Given the description of an element on the screen output the (x, y) to click on. 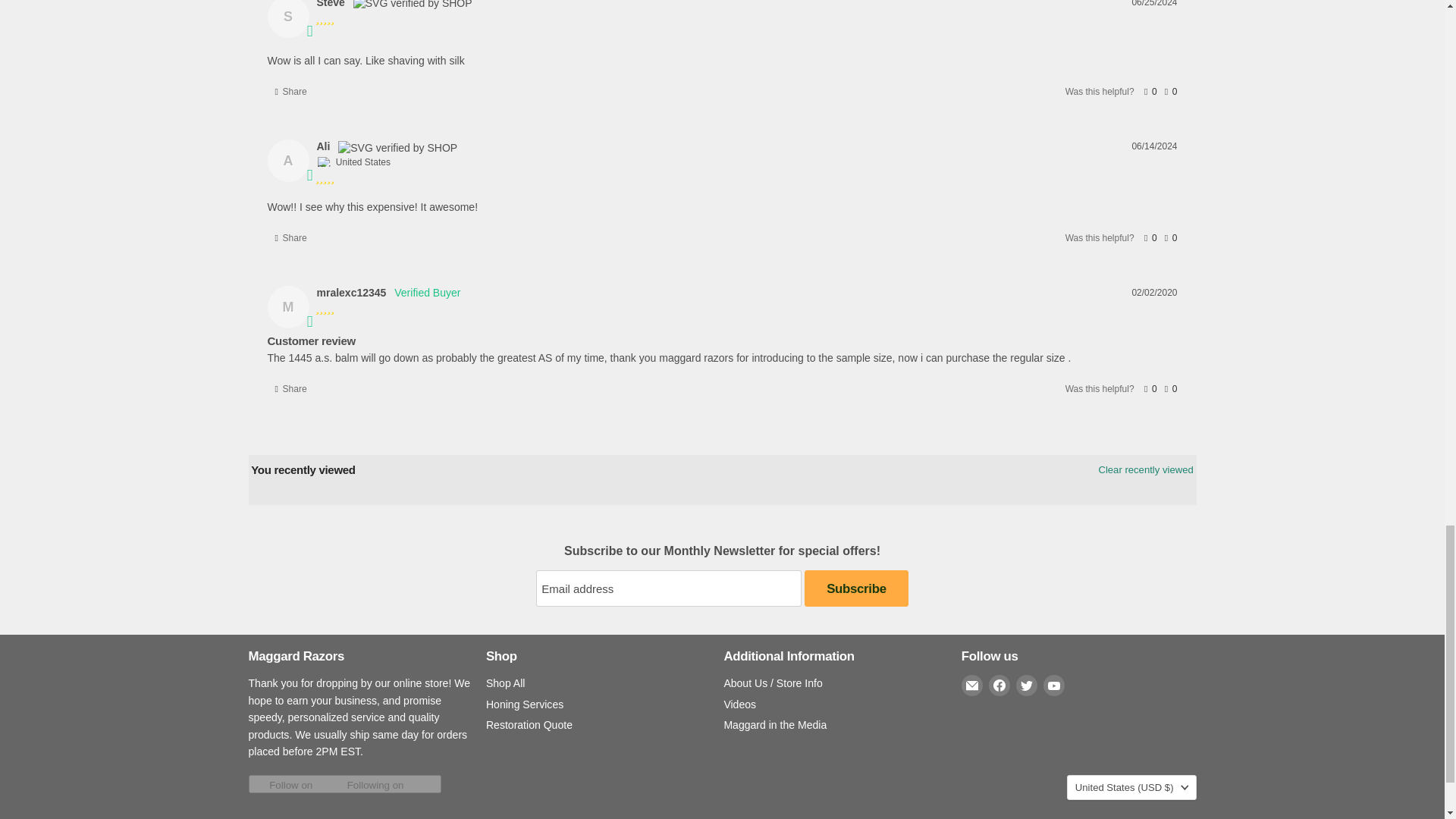
Facebook (999, 685)
YouTube (1053, 685)
Twitter (1026, 685)
Email (971, 685)
Subscribe (856, 588)
